Given the description of an element on the screen output the (x, y) to click on. 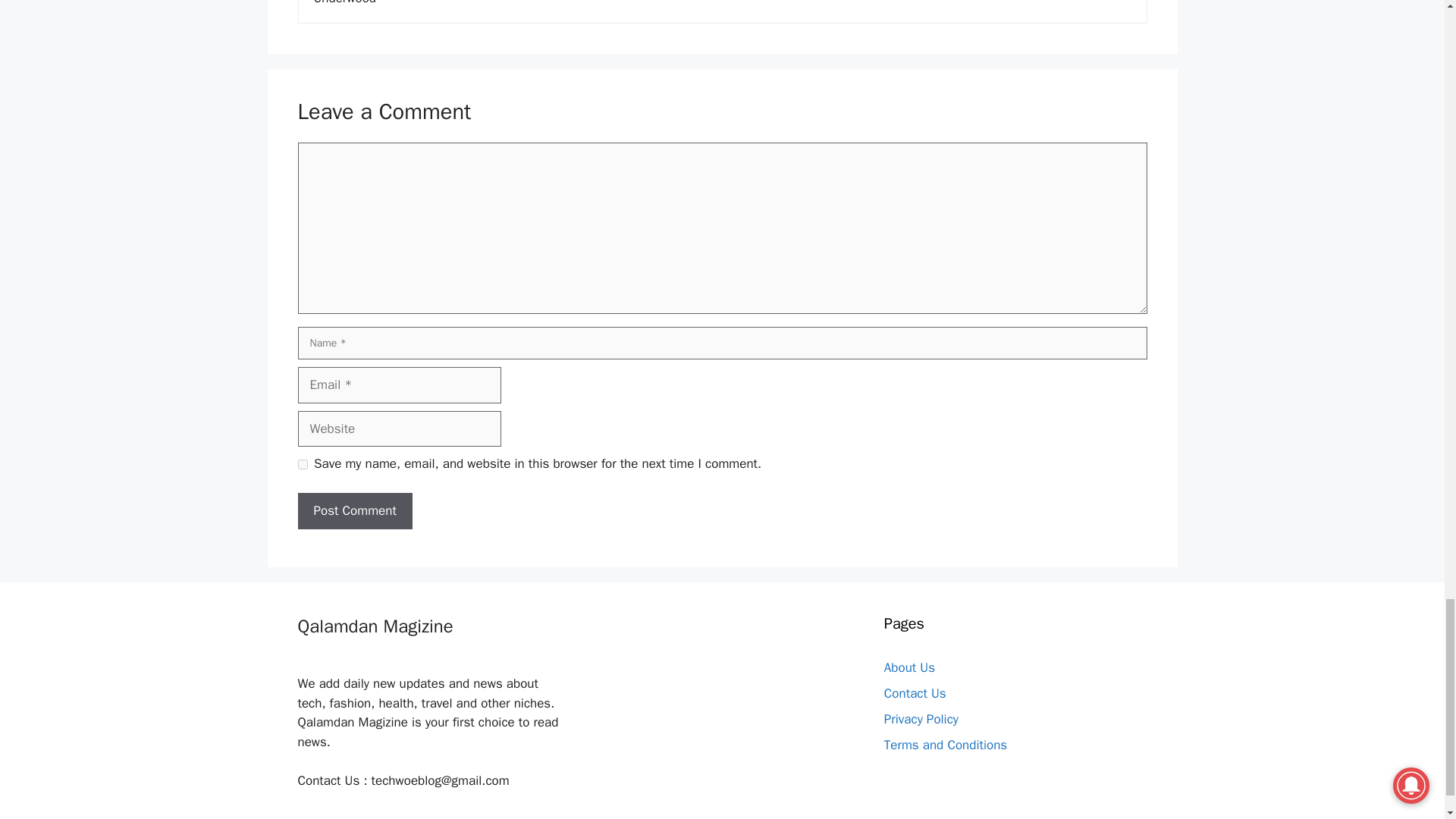
yes (302, 464)
Terms and Conditions (945, 744)
About Us (908, 667)
Post Comment (354, 511)
Post Comment (354, 511)
Contact Us (914, 693)
Privacy Policy (920, 719)
